Given the description of an element on the screen output the (x, y) to click on. 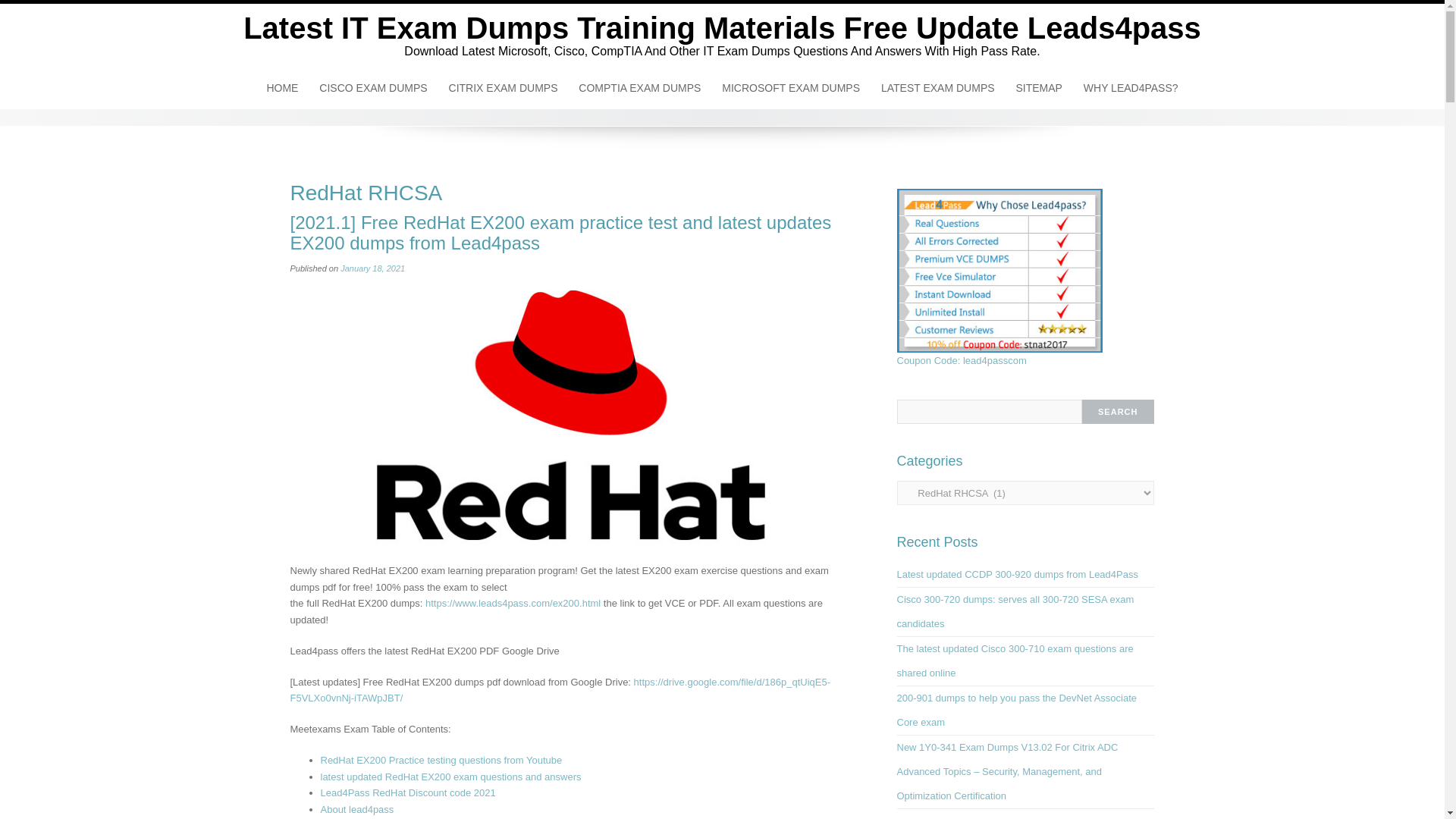
MICROSOFT EXAM DUMPS (791, 87)
HOME (282, 87)
Cisco 300-720 dumps: serves all 300-720 SESA exam candidates (1015, 611)
CITRIX EXAM DUMPS (503, 87)
CISCO EXAM DUMPS (372, 87)
January 18, 2021 (372, 267)
Lead4Pass RedHat Discount code 2021 (407, 792)
LATEST EXAM DUMPS (938, 87)
